Given the description of an element on the screen output the (x, y) to click on. 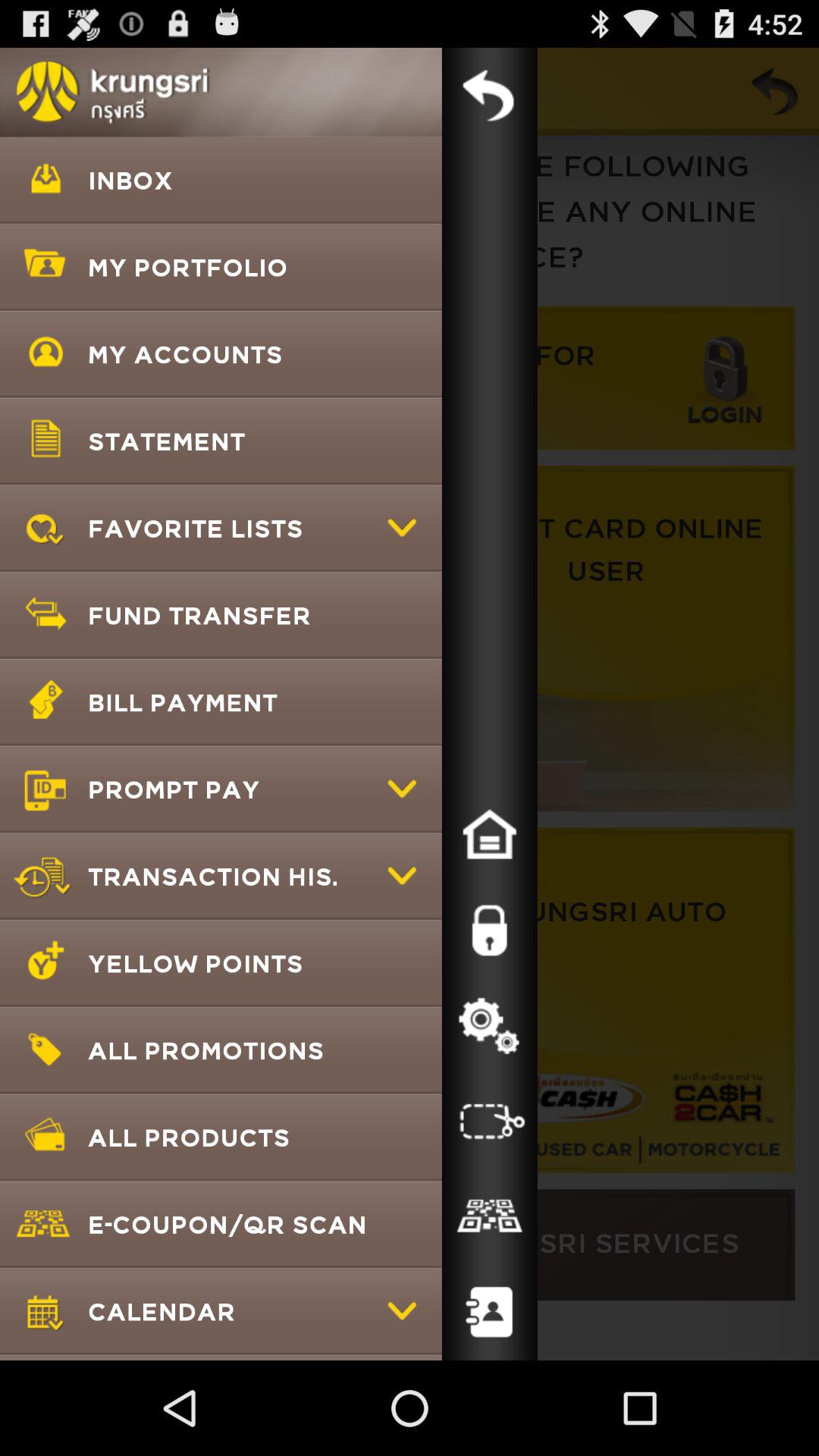
go to back (489, 95)
